Given the description of an element on the screen output the (x, y) to click on. 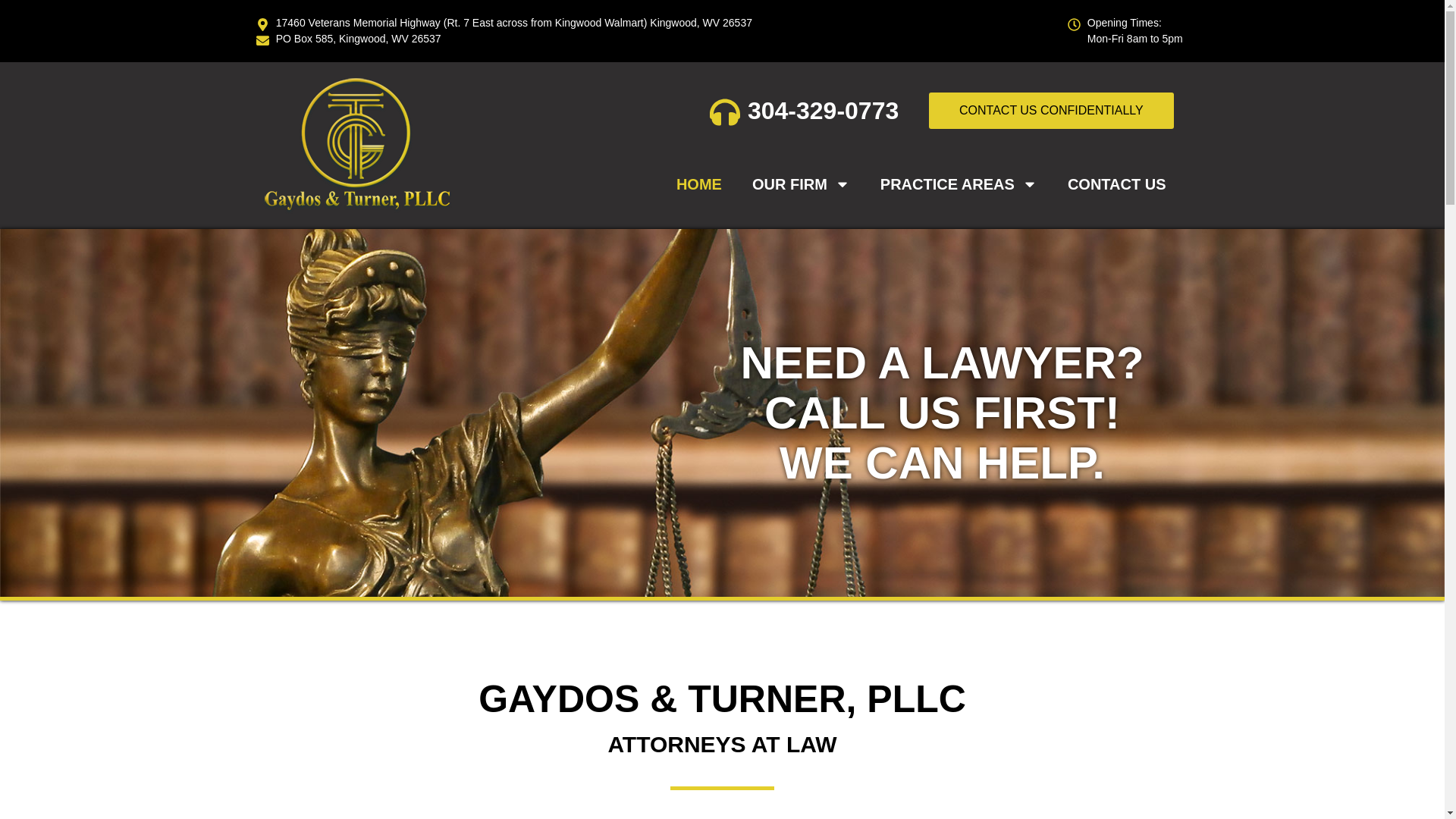
OUR FIRM (800, 184)
CONTACT US CONFIDENTIALLY (1050, 110)
HOME (698, 184)
304-329-0773 (802, 110)
